Given the description of an element on the screen output the (x, y) to click on. 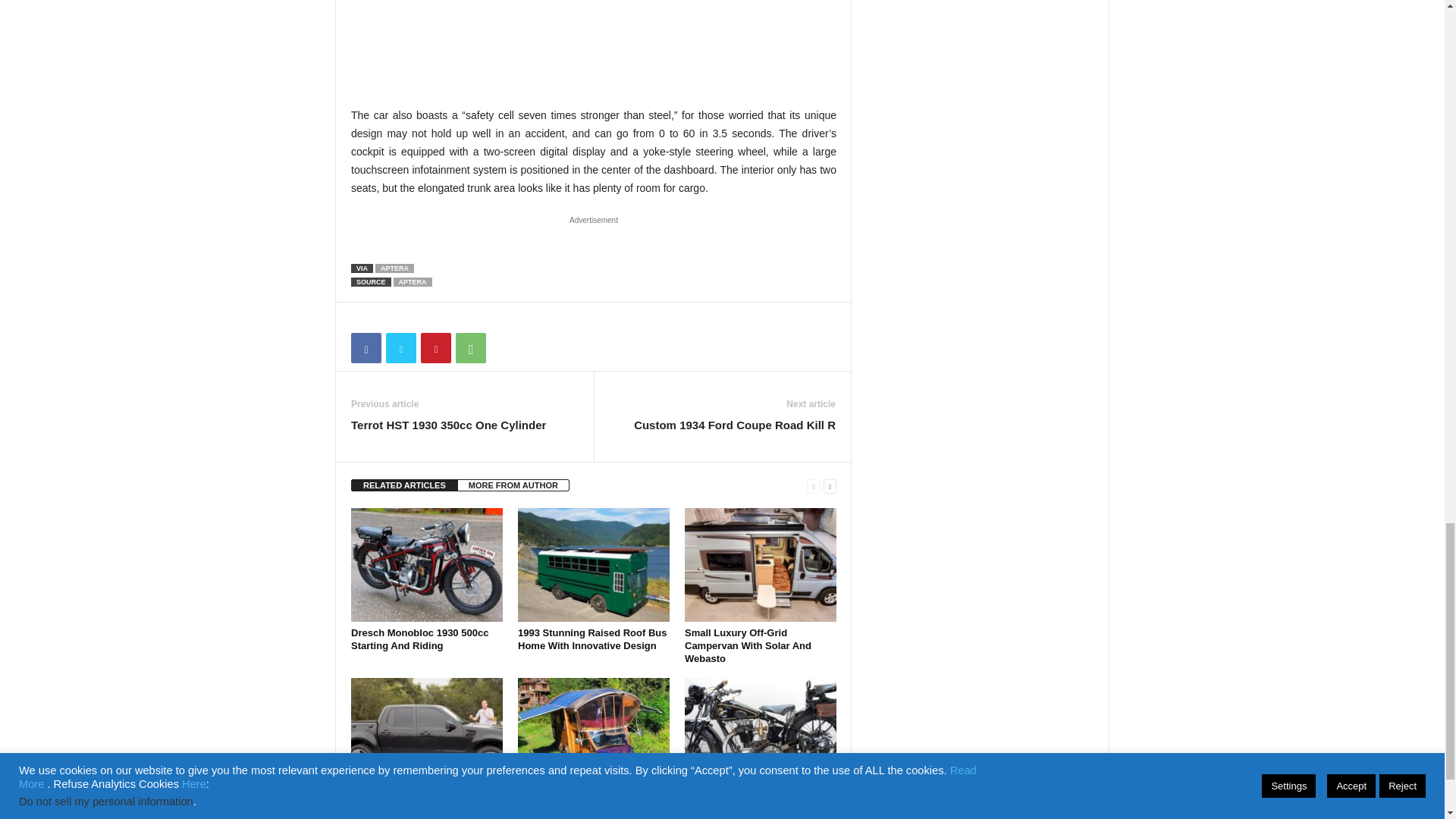
APTERA (412, 281)
APTERA (394, 267)
YouTube video player (592, 41)
bottomFacebookLike (390, 317)
Terrot HST 1930 350cc One Cylinder (448, 424)
Custom 1934 Ford Coupe Road Kill R (734, 424)
Facebook (365, 347)
Twitter (400, 347)
